Given the description of an element on the screen output the (x, y) to click on. 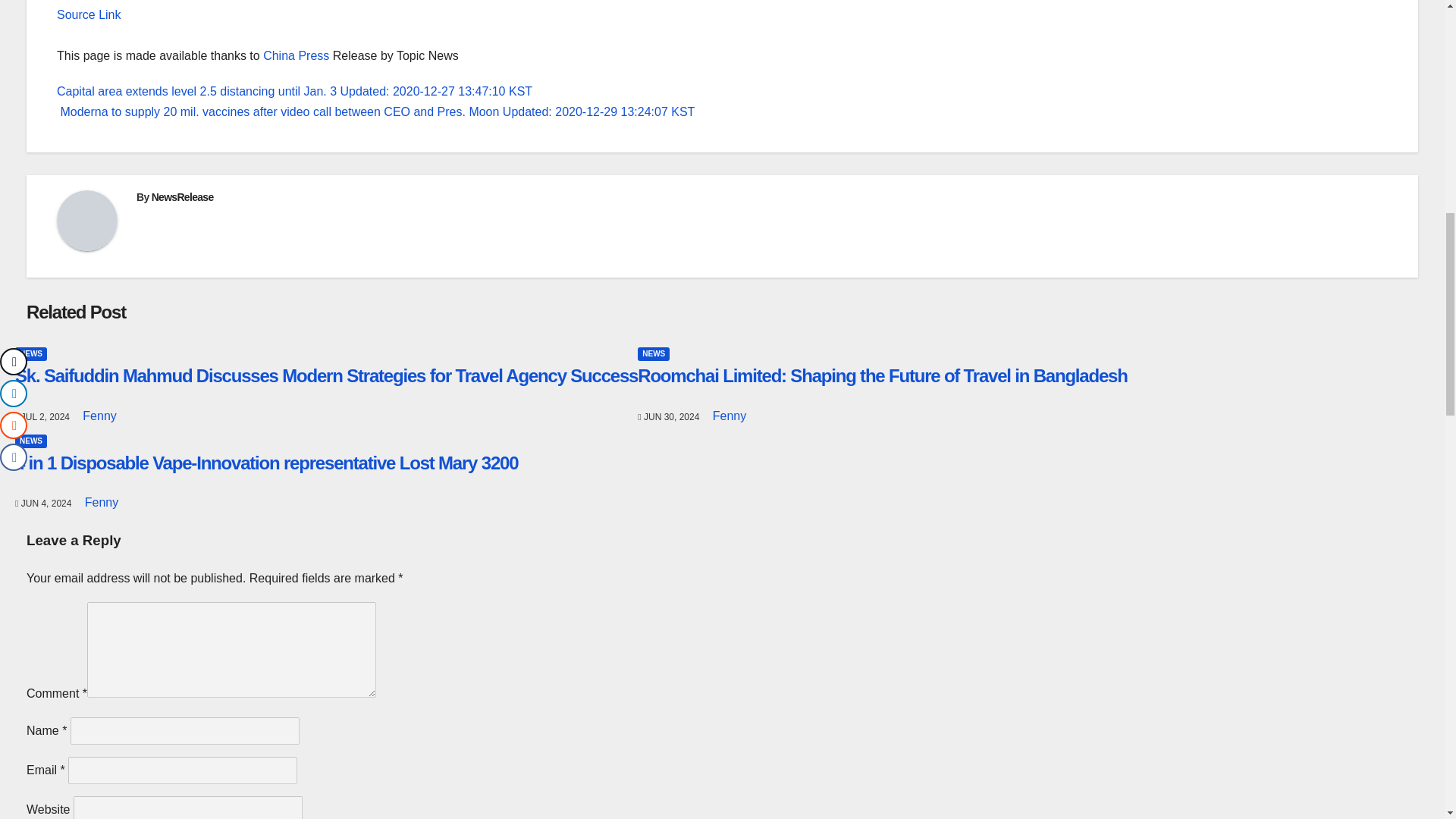
NEWS (653, 354)
NewsRelease (182, 196)
Fenny (99, 415)
China Press (296, 55)
Roomchai Limited: Shaping the Future of Travel in Bangladesh (881, 375)
NEWS (30, 354)
Fenny (729, 415)
Source Link (88, 14)
